Given the description of an element on the screen output the (x, y) to click on. 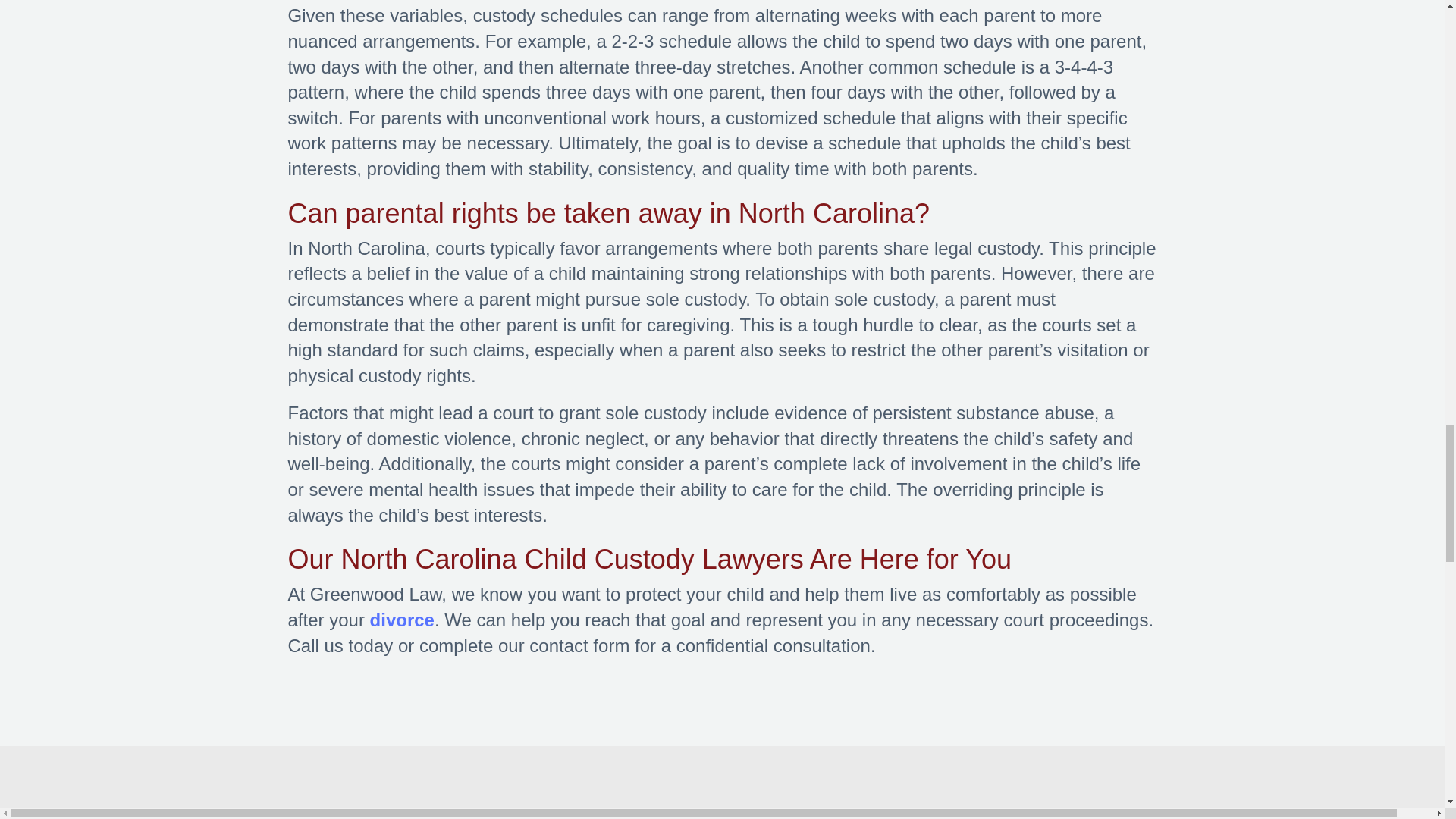
divorce (401, 619)
divorce (401, 619)
